Given the description of an element on the screen output the (x, y) to click on. 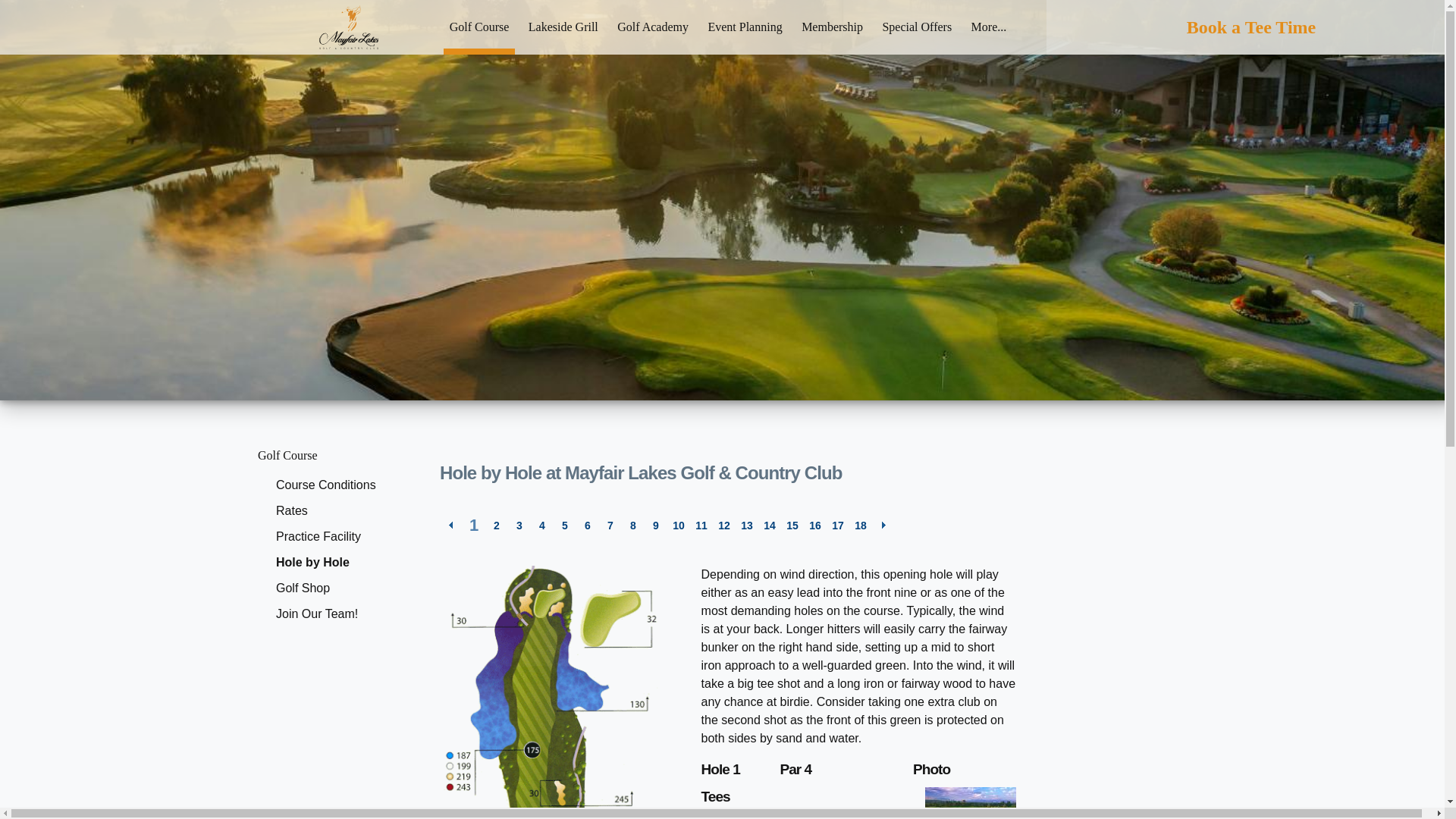
Golf Academy (652, 26)
Event Planning (744, 26)
More... (989, 26)
Special Offers (917, 26)
Course Conditions (342, 484)
Membership (832, 26)
Practice Facility (342, 536)
Rates (342, 510)
Golf Course (333, 455)
Join Our Team! (342, 614)
